Given the description of an element on the screen output the (x, y) to click on. 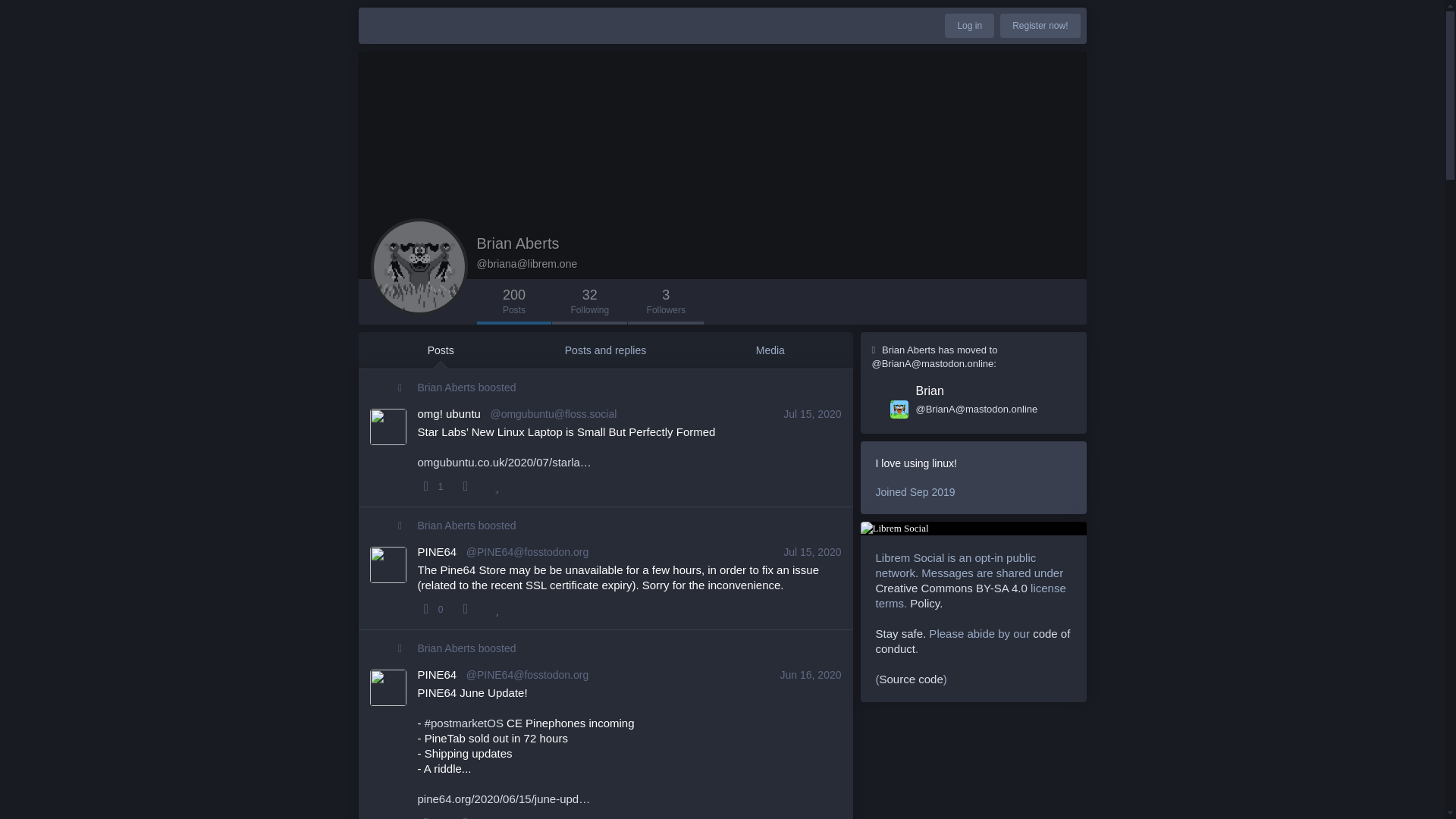
3 (589, 302)
Jul 15, 2020 (664, 302)
Jul 15, 2020 (812, 551)
32 (812, 413)
Jun 16, 2020 (589, 302)
Log in (810, 674)
Brian Aberts (969, 25)
July 15, 2020 at 1:10 AM (446, 387)
Media (812, 551)
Posts (769, 350)
June 16, 2020 at 12:27 AM (440, 350)
Posts and replies (810, 674)
Brian Aberts (604, 350)
Register now! (446, 648)
